Given the description of an element on the screen output the (x, y) to click on. 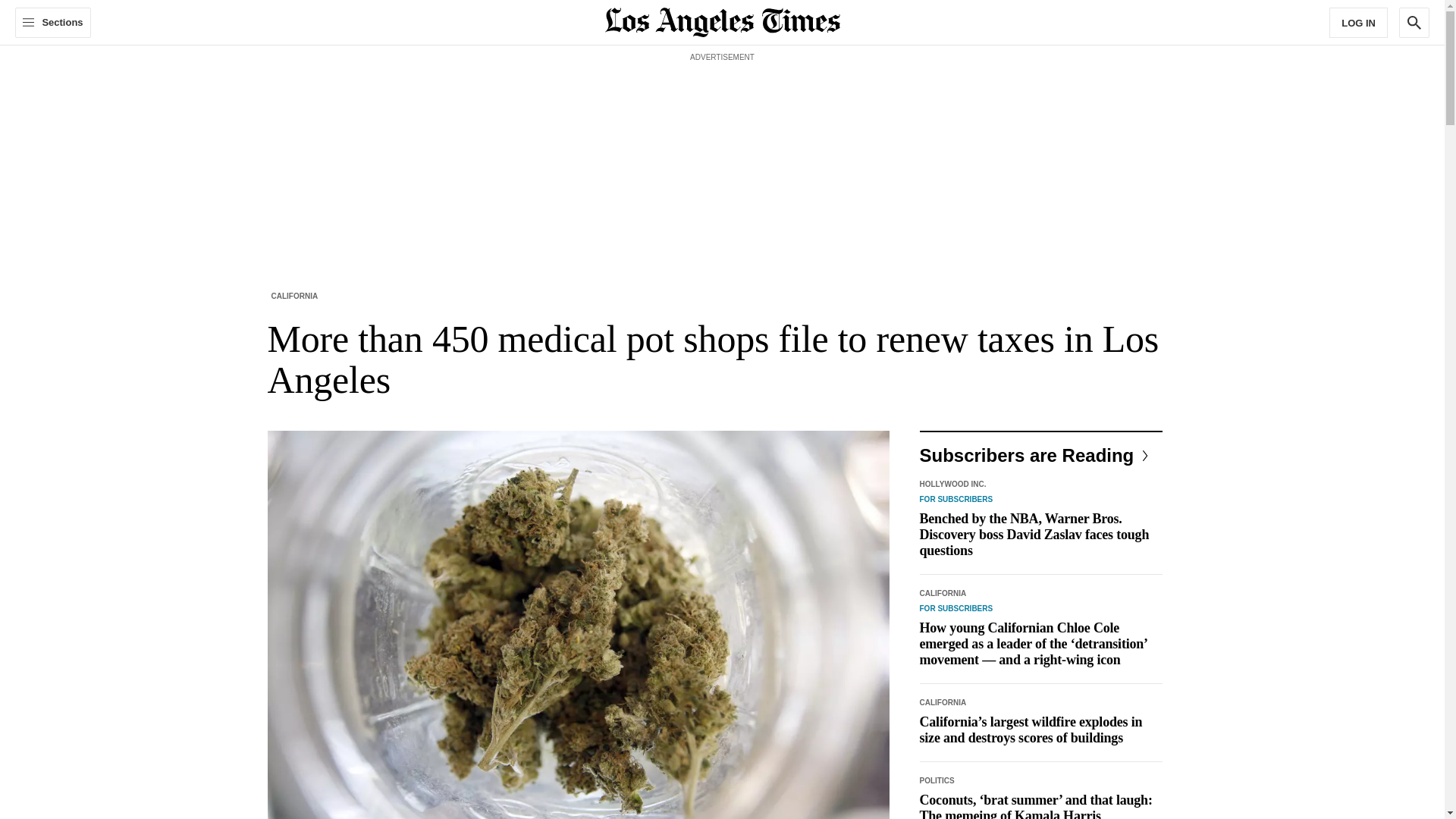
3rd party ad content (721, 100)
